Given the description of an element on the screen output the (x, y) to click on. 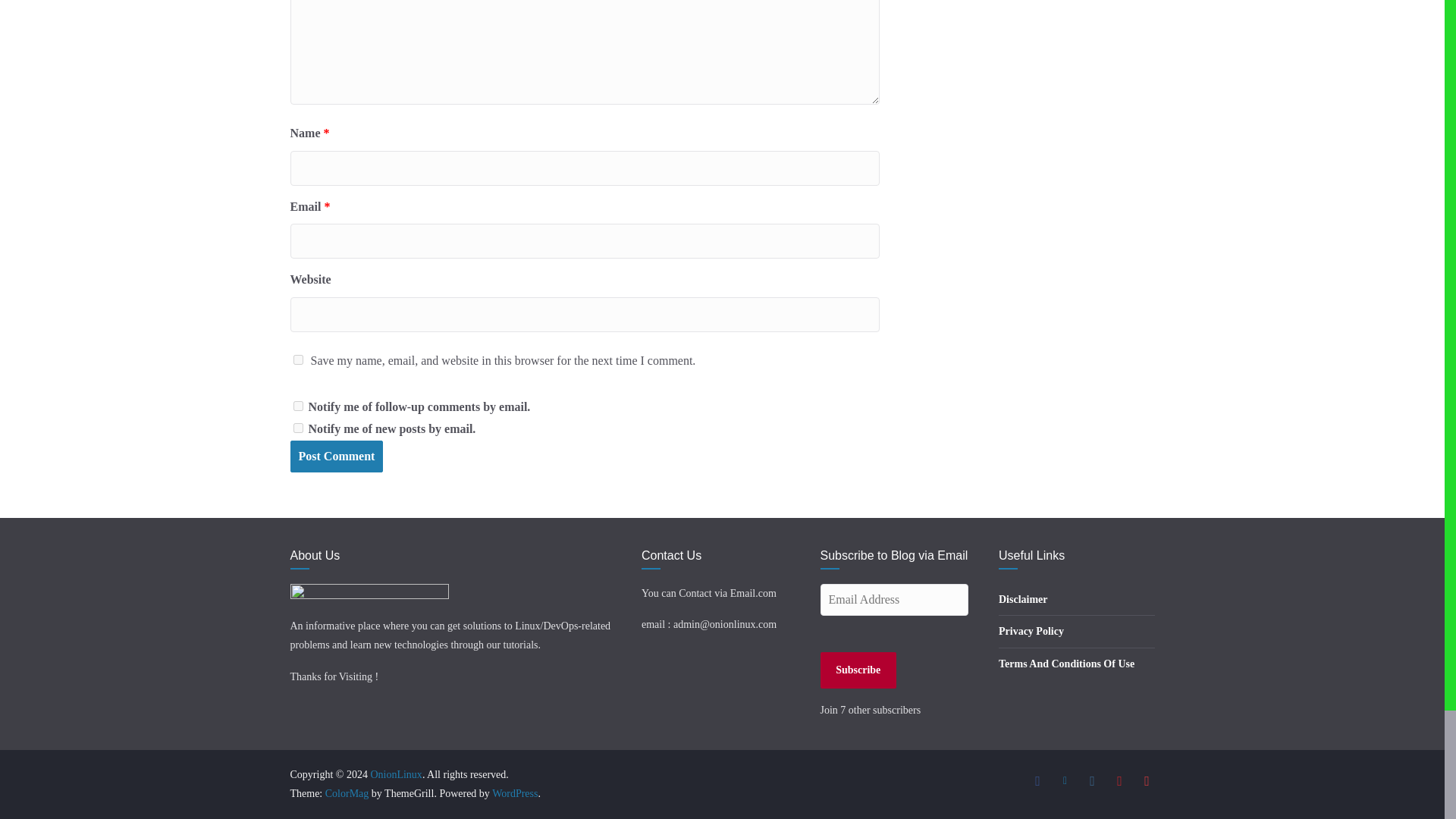
WordPress (514, 793)
ColorMag (346, 793)
Post Comment (335, 456)
subscribe (297, 406)
Post Comment (335, 456)
yes (297, 359)
subscribe (297, 428)
OnionLinux (395, 774)
